Given the description of an element on the screen output the (x, y) to click on. 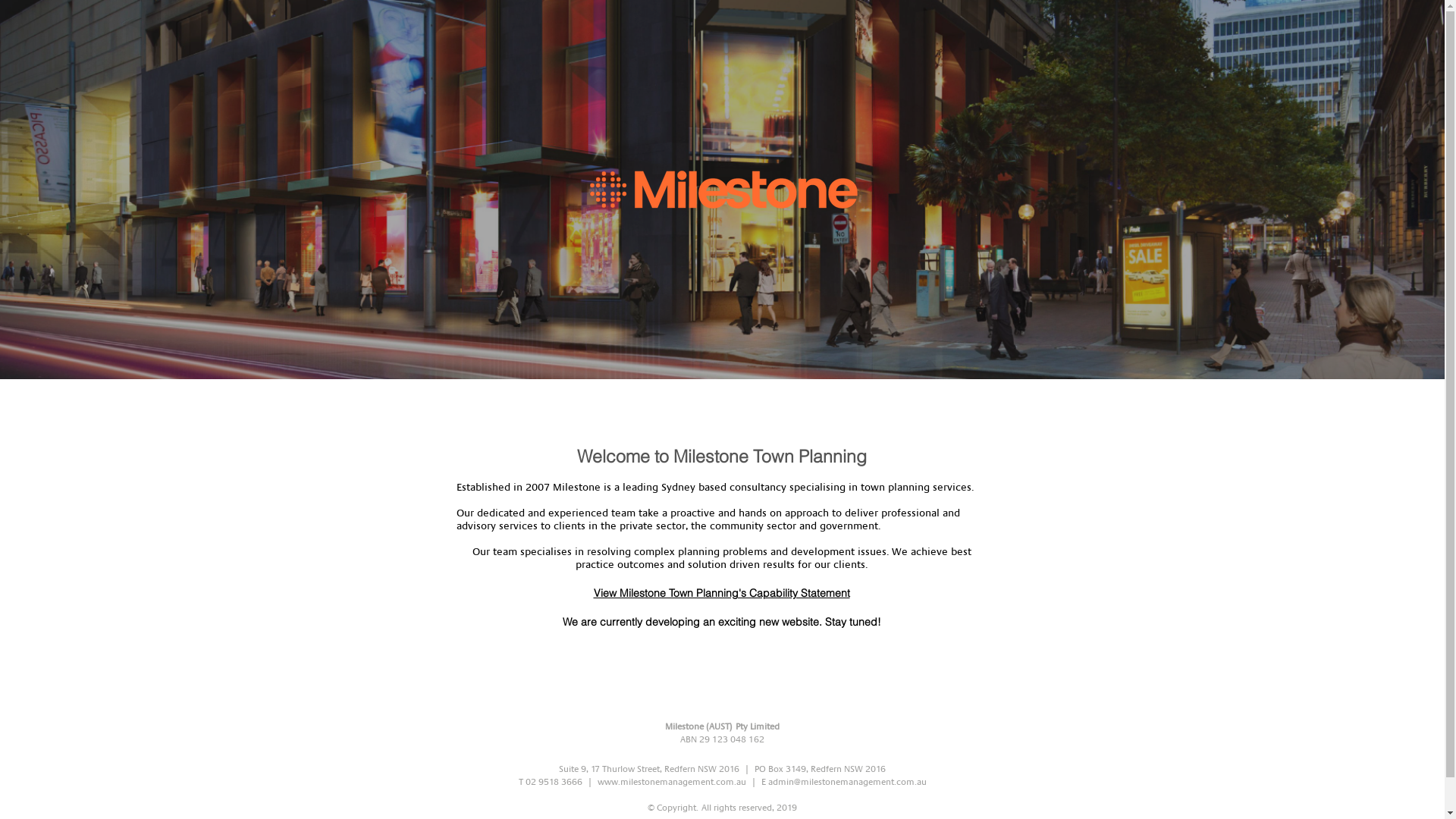
www.milestonemanagement.com.au Element type: text (671, 781)
admin@milestonemanagement.com.au Element type: text (846, 781)
View Milestone Town Planning's Capability Statement Element type: text (721, 593)
